Given the description of an element on the screen output the (x, y) to click on. 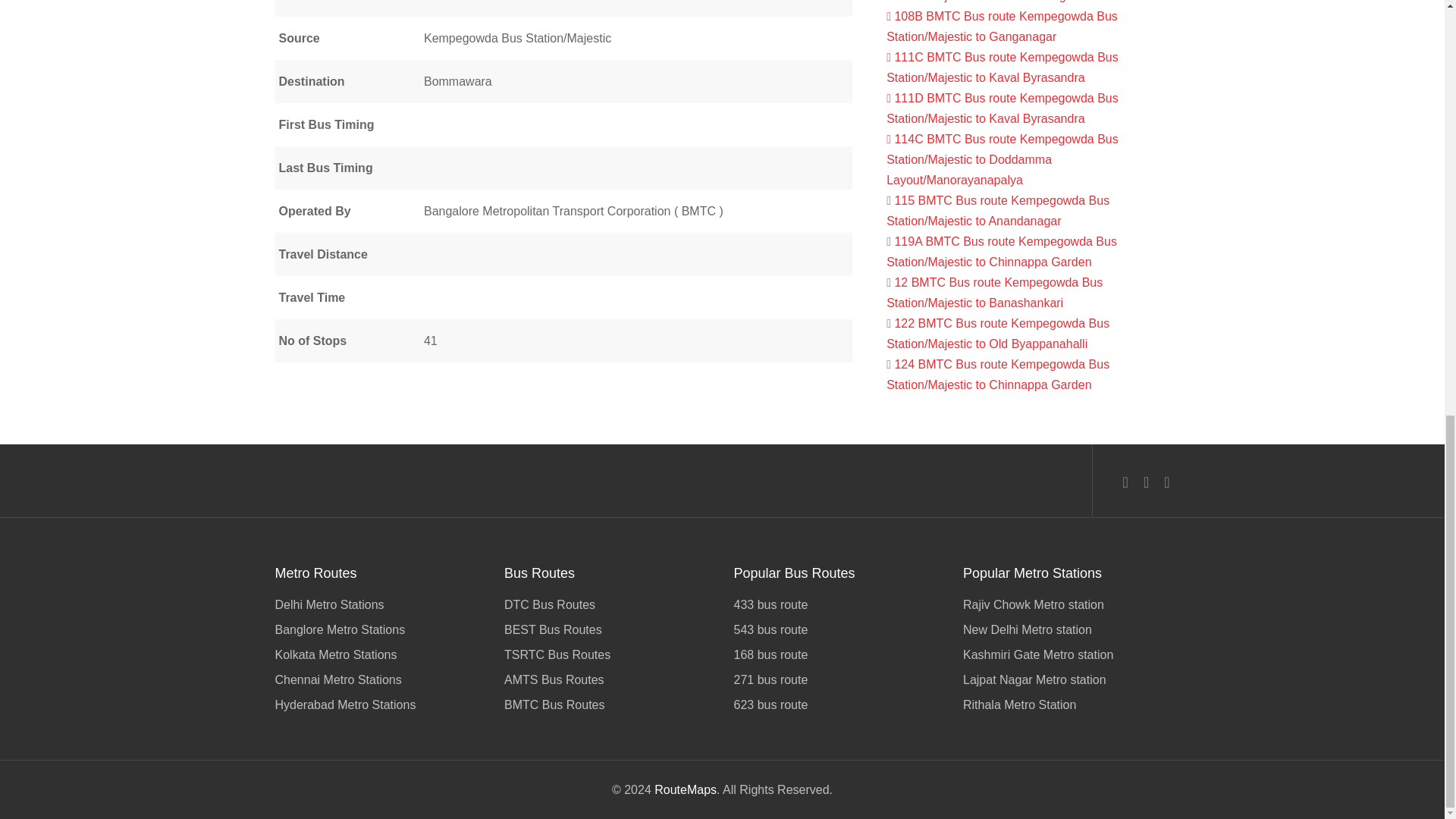
BMTC Bus Routes (607, 703)
623 bus route (836, 703)
Banglore Metro Stations (378, 629)
Kolkata Metro Stations (378, 654)
543 bus route (836, 629)
Chennai Metro Stations (378, 679)
Delhi Metro Stations (378, 606)
Pinterest (1166, 481)
Facebook (1125, 481)
433 bus route (836, 606)
New Delhi Metro station (1066, 629)
AMTS Bus Routes (607, 679)
271 bus route (836, 679)
TSRTC Bus Routes (607, 654)
BEST Bus Routes (607, 629)
